Given the description of an element on the screen output the (x, y) to click on. 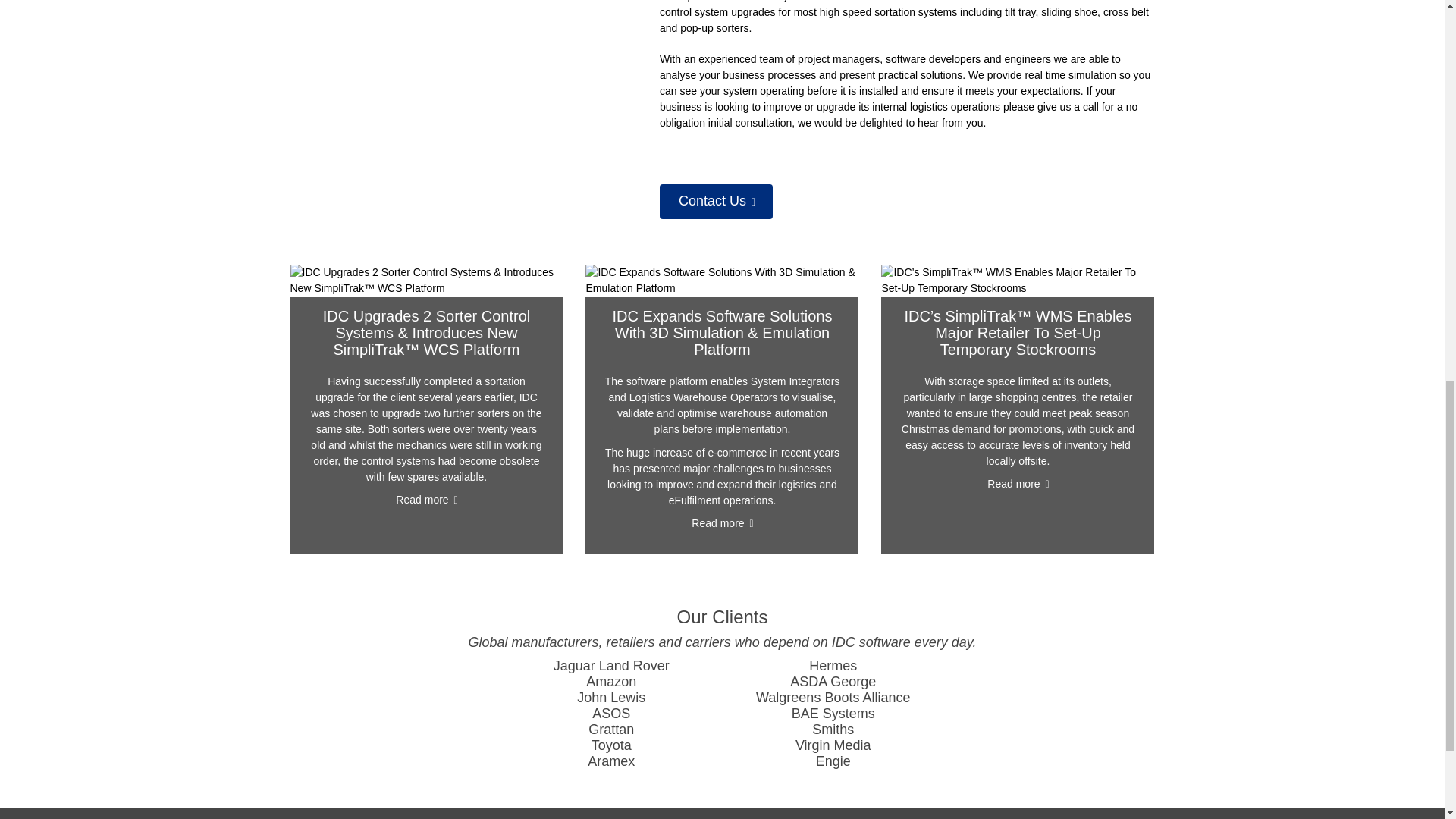
Read more (721, 524)
Contact Us (716, 201)
Read more (425, 501)
Read more (1017, 484)
